Given the description of an element on the screen output the (x, y) to click on. 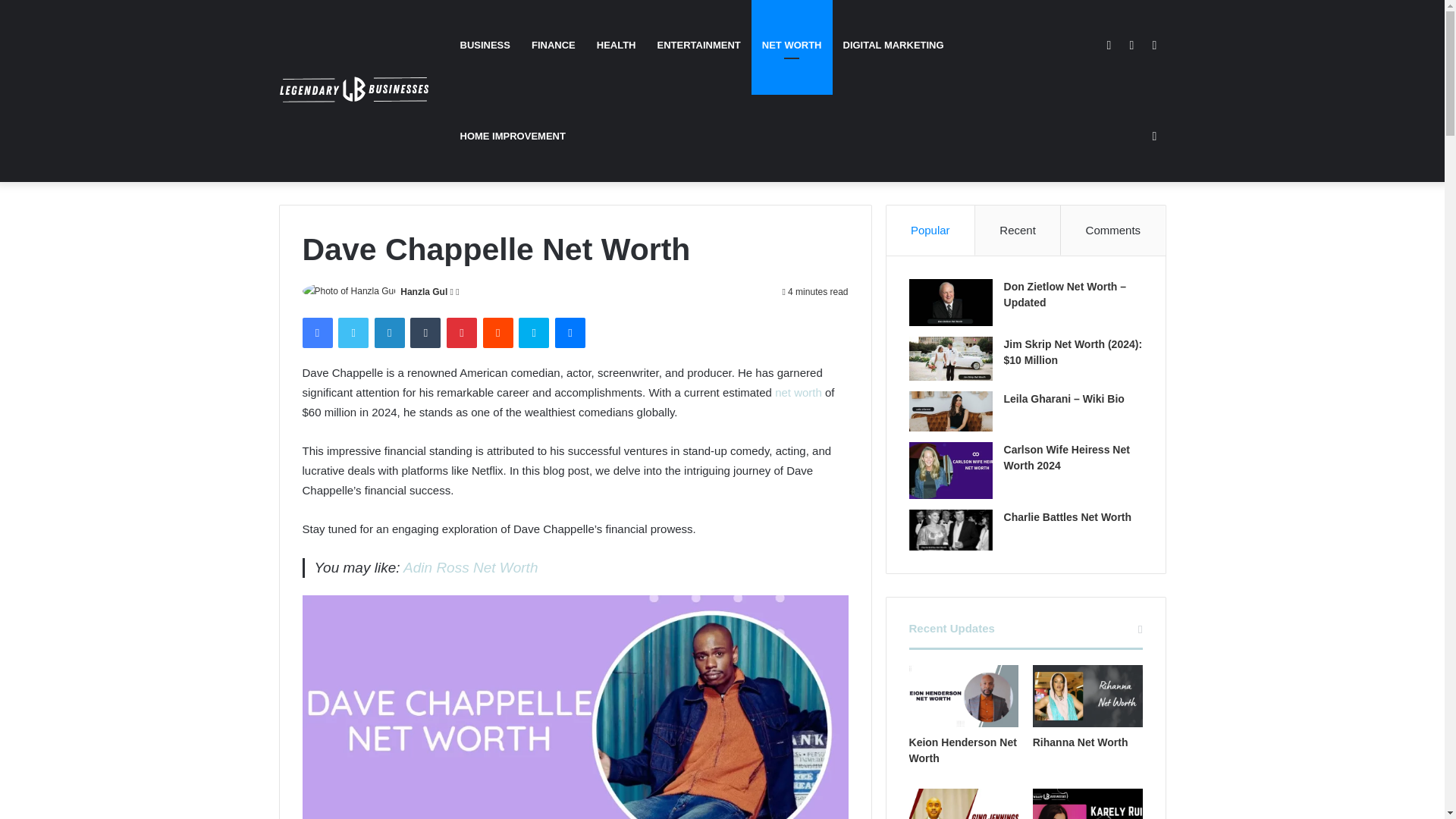
Facebook (316, 332)
Reddit (498, 332)
LinkedIn (389, 332)
LinkedIn (389, 332)
Pinterest (461, 332)
NET WORTH (791, 45)
Tumblr (425, 332)
Messenger (569, 332)
Pinterest (461, 332)
DIGITAL MARKETING (893, 45)
